Given the description of an element on the screen output the (x, y) to click on. 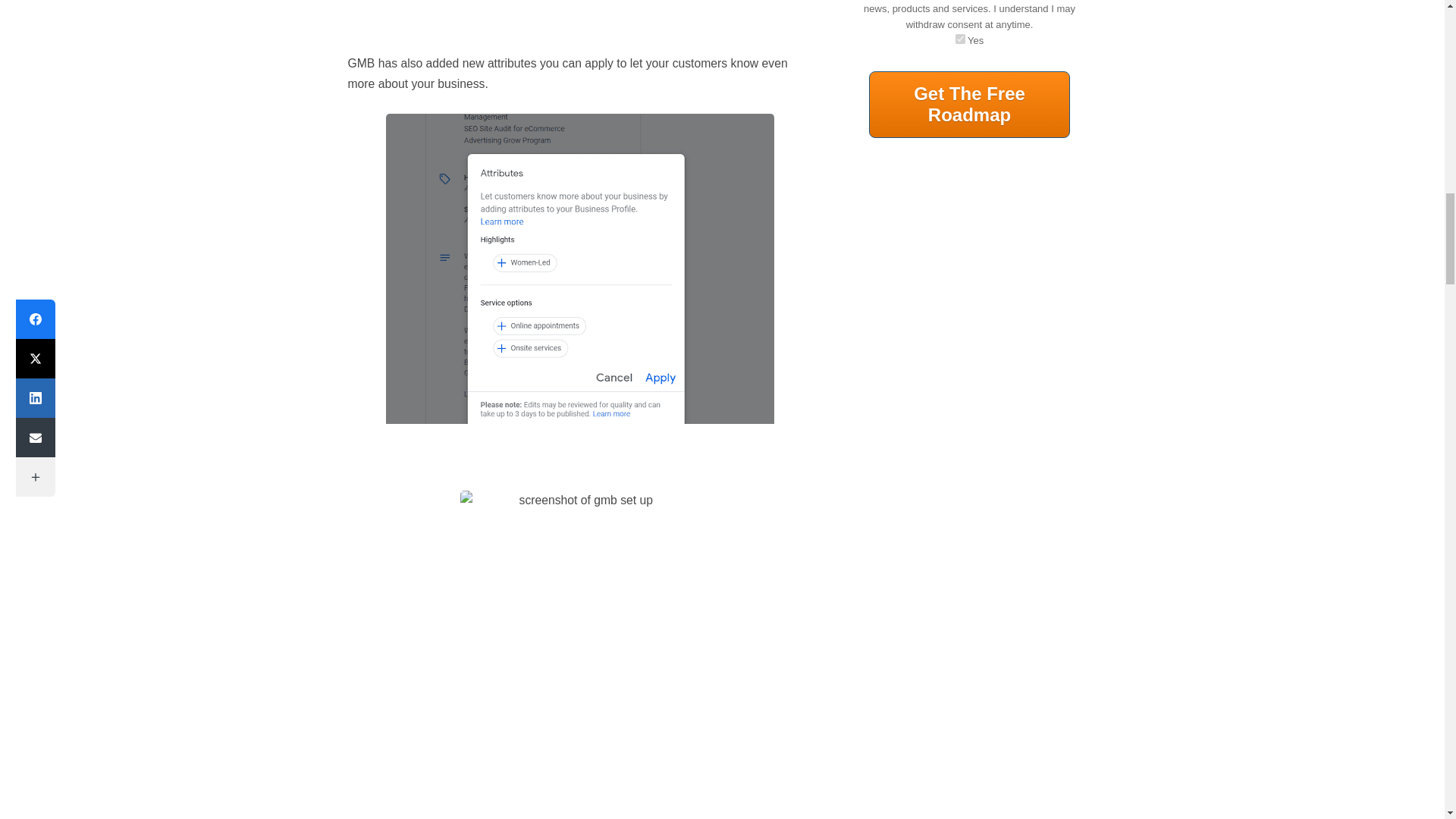
Yes (960, 39)
